Given the description of an element on the screen output the (x, y) to click on. 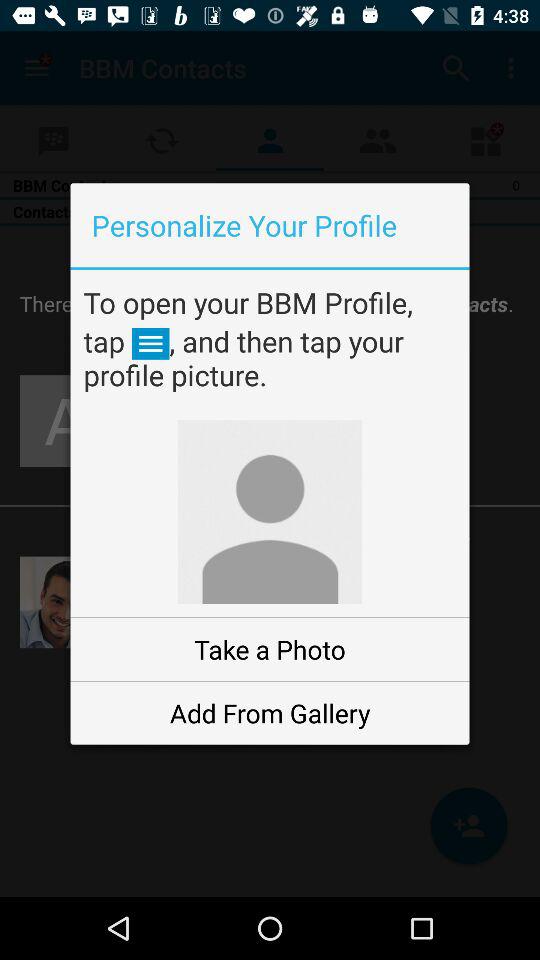
swipe until the add from gallery item (269, 712)
